Given the description of an element on the screen output the (x, y) to click on. 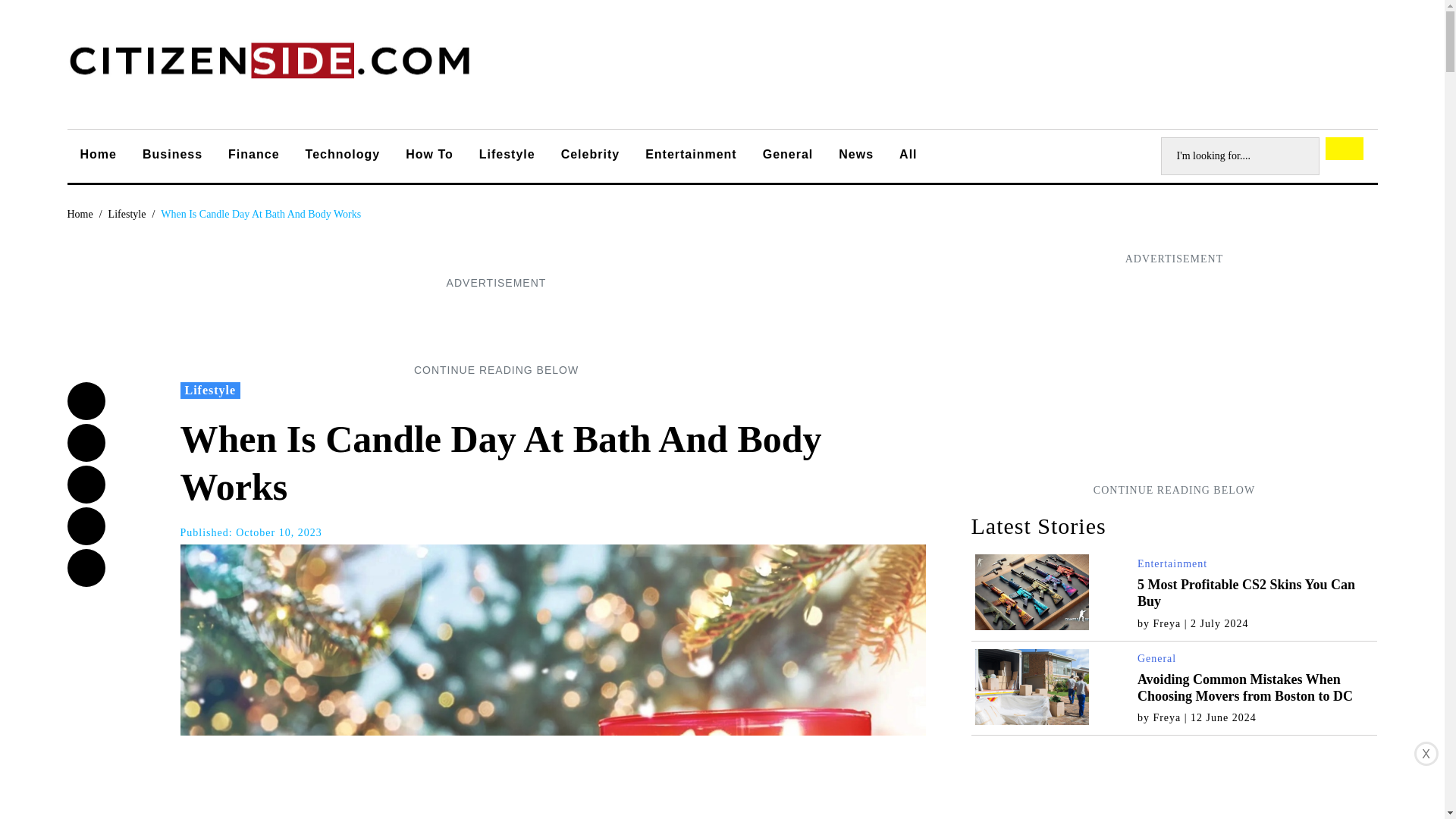
Business (172, 156)
Advertisement (495, 326)
Finance (253, 156)
Technology (342, 156)
Entertainment (690, 156)
Share on Pinterest (85, 567)
Entertainment (1172, 563)
Share on Facebook (85, 401)
Home (79, 214)
Share on LinkedIn (85, 525)
Celebrity (589, 156)
Lifestyle (127, 214)
Twitter (85, 442)
Search for: (1239, 156)
